Given the description of an element on the screen output the (x, y) to click on. 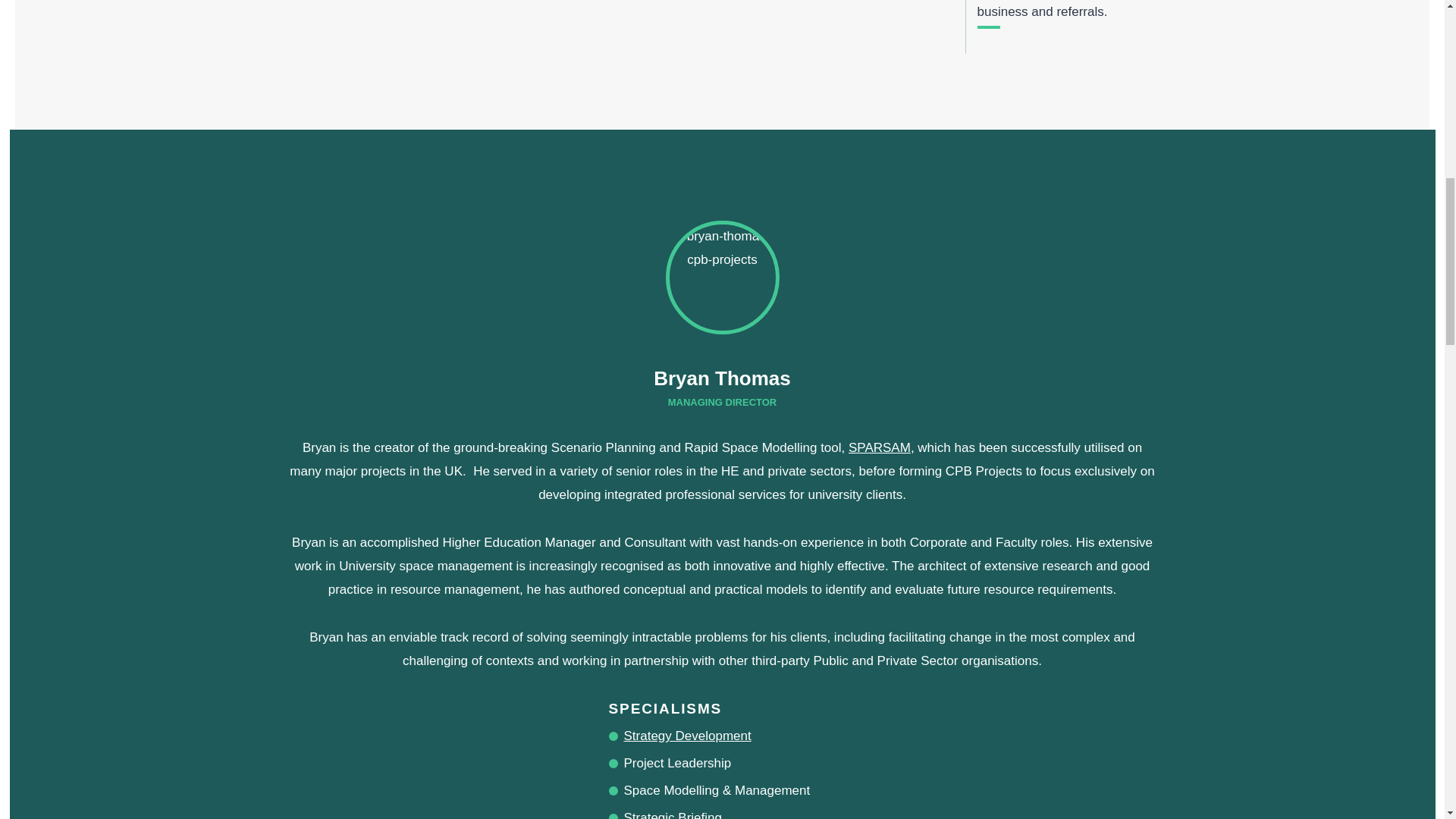
SPARSAM (879, 447)
Strategic Briefing (671, 814)
Strategy Development (687, 735)
